Given the description of an element on the screen output the (x, y) to click on. 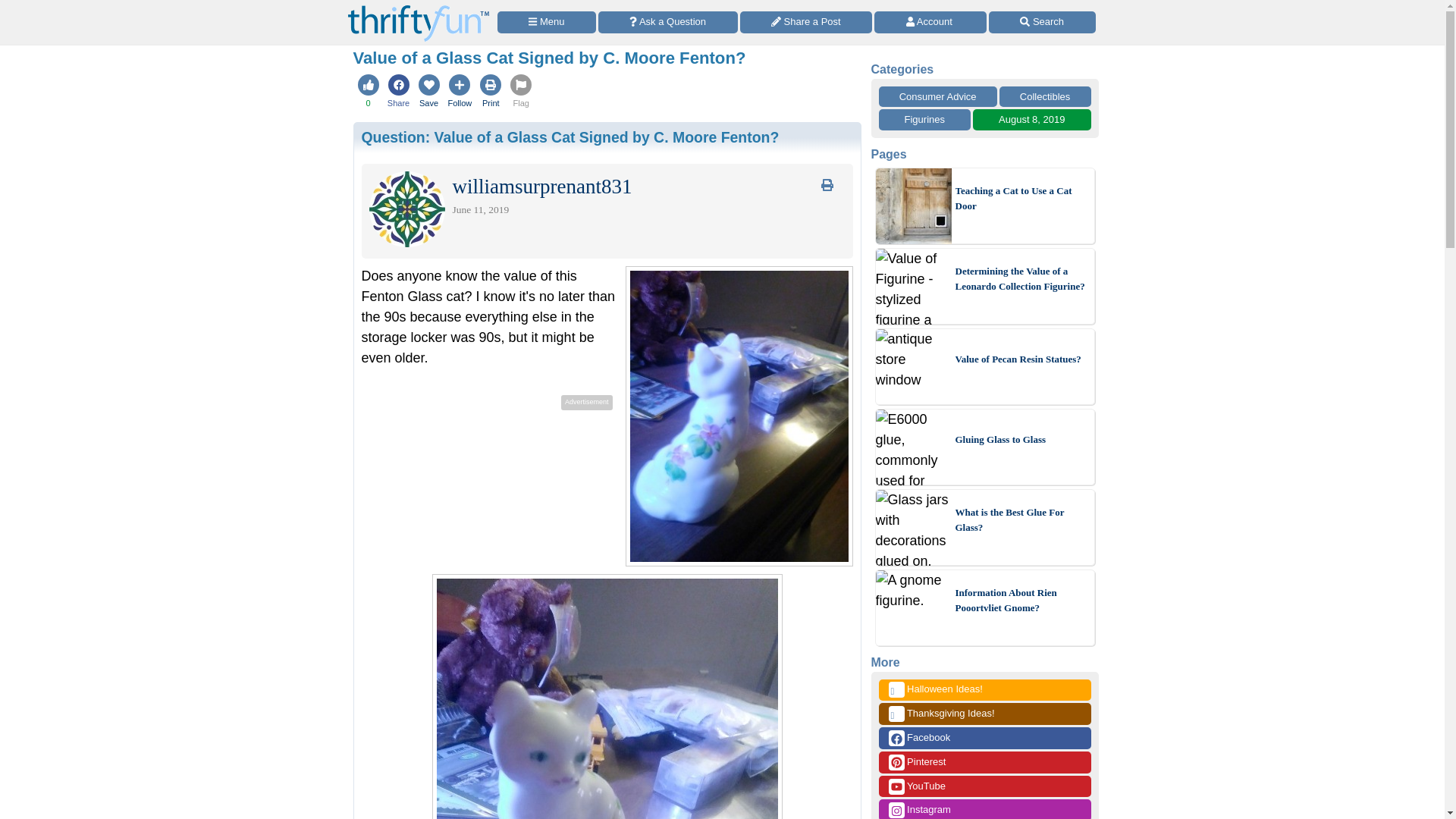
 Ask a Question (668, 22)
 Menu (546, 22)
williamsurprenant831 (541, 189)
